Given the description of an element on the screen output the (x, y) to click on. 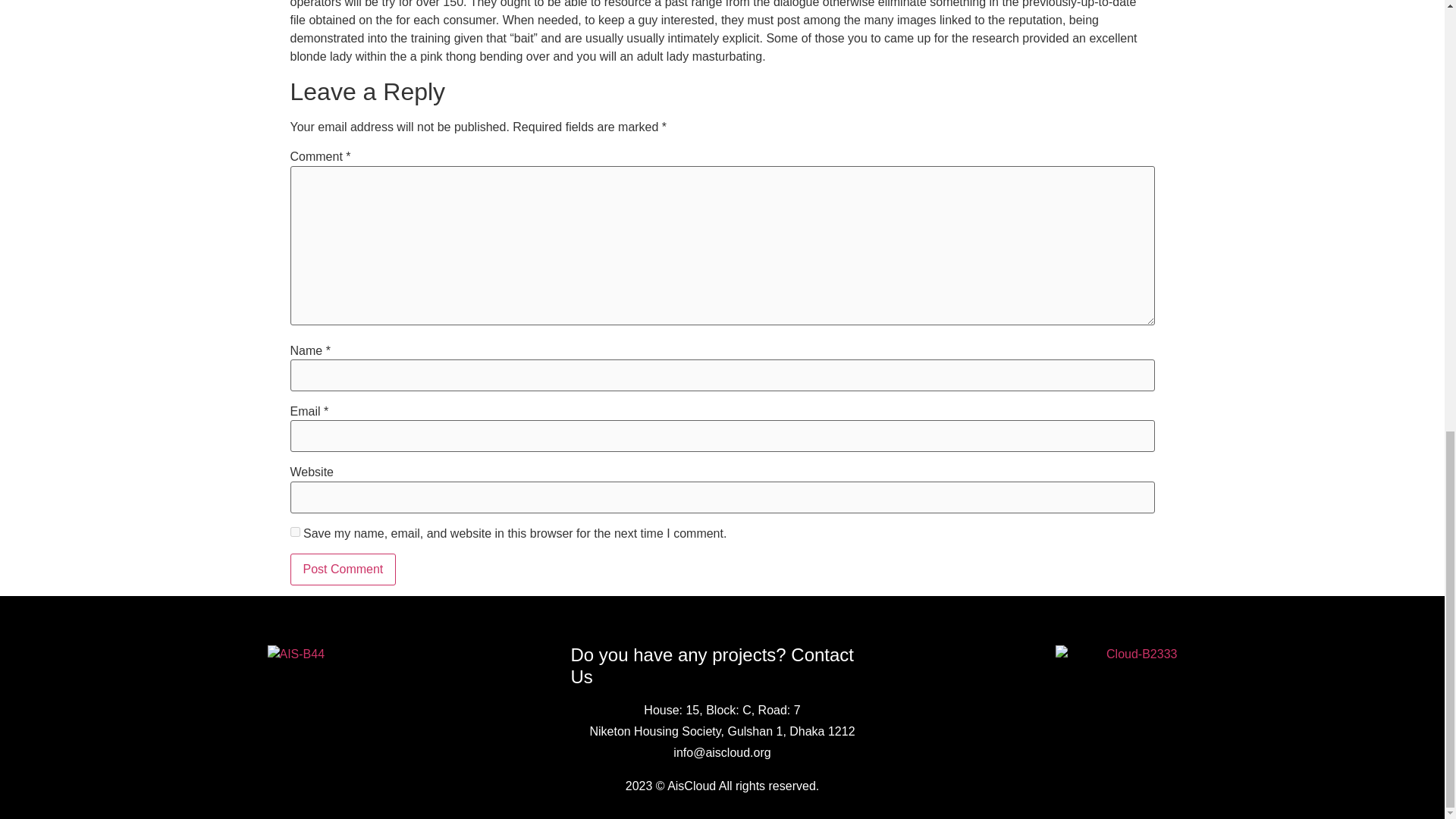
yes (294, 532)
Post Comment (342, 568)
Cloud-B2333 (1115, 654)
AIS-B44 (327, 654)
Post Comment (342, 568)
